Given the description of an element on the screen output the (x, y) to click on. 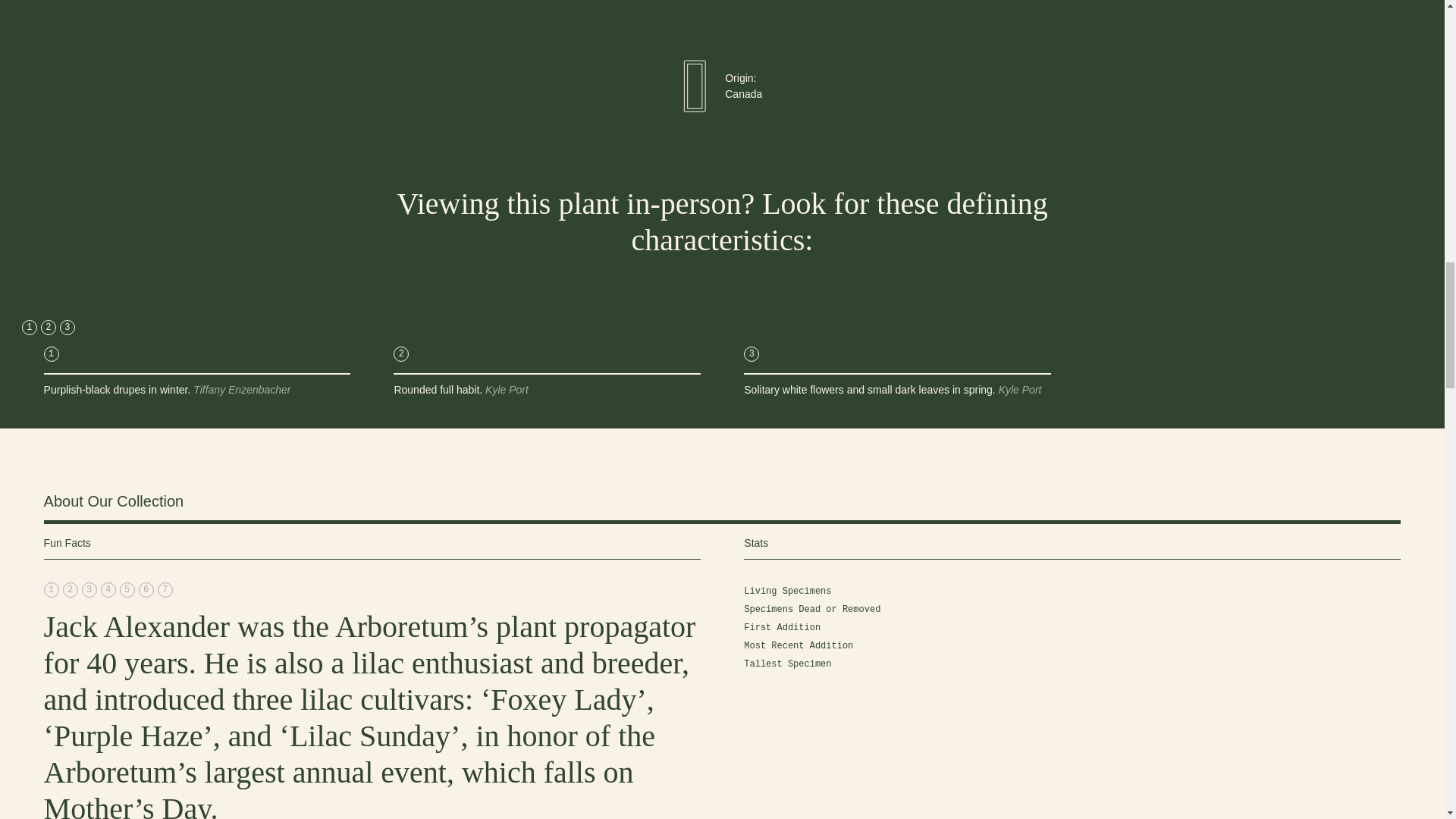
2 (70, 589)
1 (51, 589)
5 (127, 589)
2 (48, 327)
3 (89, 589)
1 (29, 327)
3 (67, 327)
4 (108, 589)
